Given the description of an element on the screen output the (x, y) to click on. 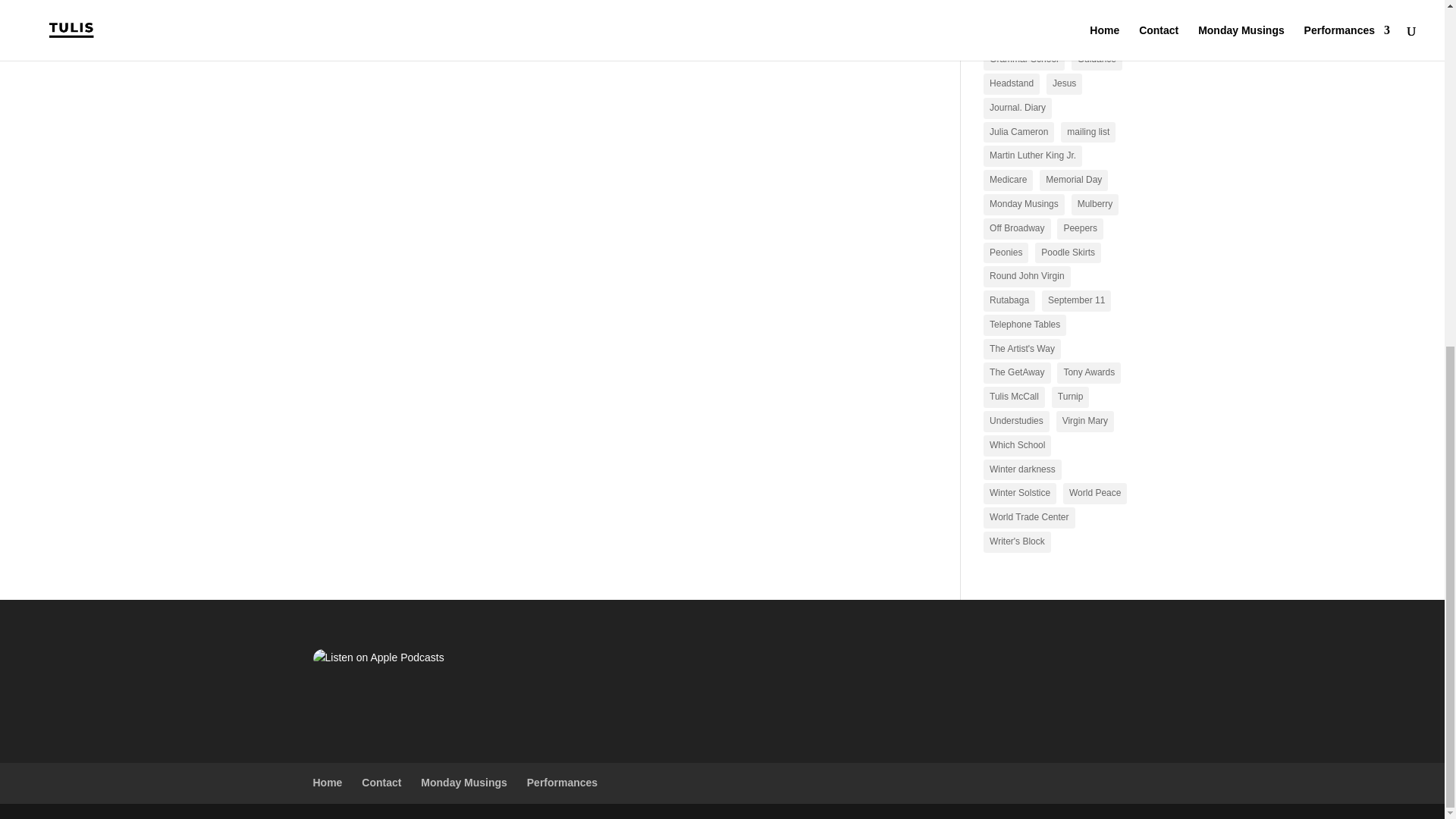
Julia Cameron (1019, 132)
Church (1004, 11)
Grammar School (1024, 59)
Headstand (1011, 84)
Death (1088, 35)
mailing list (1088, 132)
Journal. Diary (1017, 107)
COVID-19 (1059, 11)
Jesus (1063, 84)
Day Care Center (1024, 35)
